Given the description of an element on the screen output the (x, y) to click on. 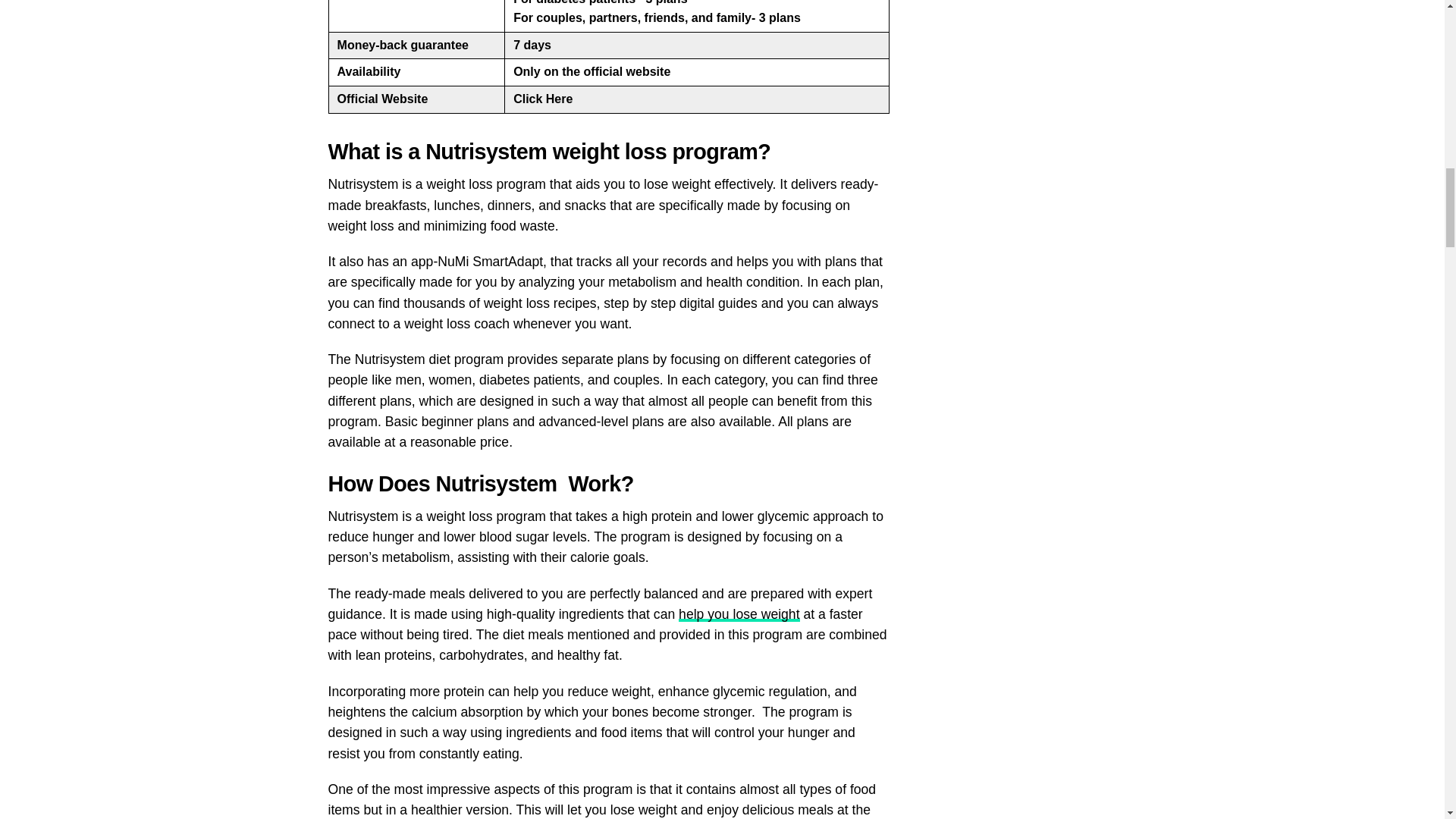
help you lose weight (738, 613)
